Given the description of an element on the screen output the (x, y) to click on. 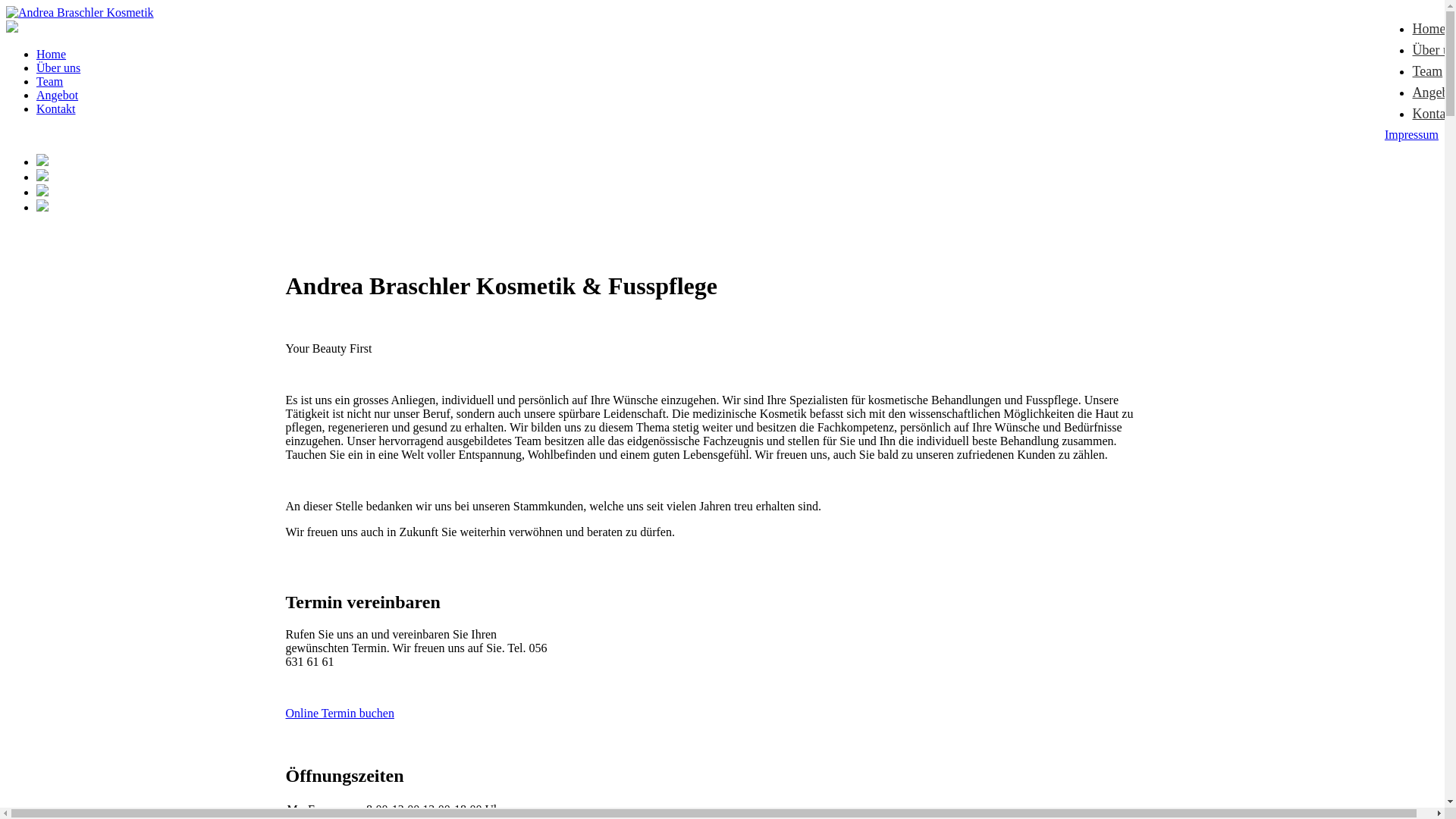
Team Element type: text (49, 81)
Kontakt Element type: text (55, 108)
Online Termin buchen Element type: text (339, 712)
Andrea Braschler Kosmetik Element type: hover (79, 12)
Angebot Element type: text (57, 94)
Home Element type: text (1428, 28)
Team Element type: text (1427, 70)
Impressum Element type: text (1411, 134)
Home Element type: text (50, 53)
